Given the description of an element on the screen output the (x, y) to click on. 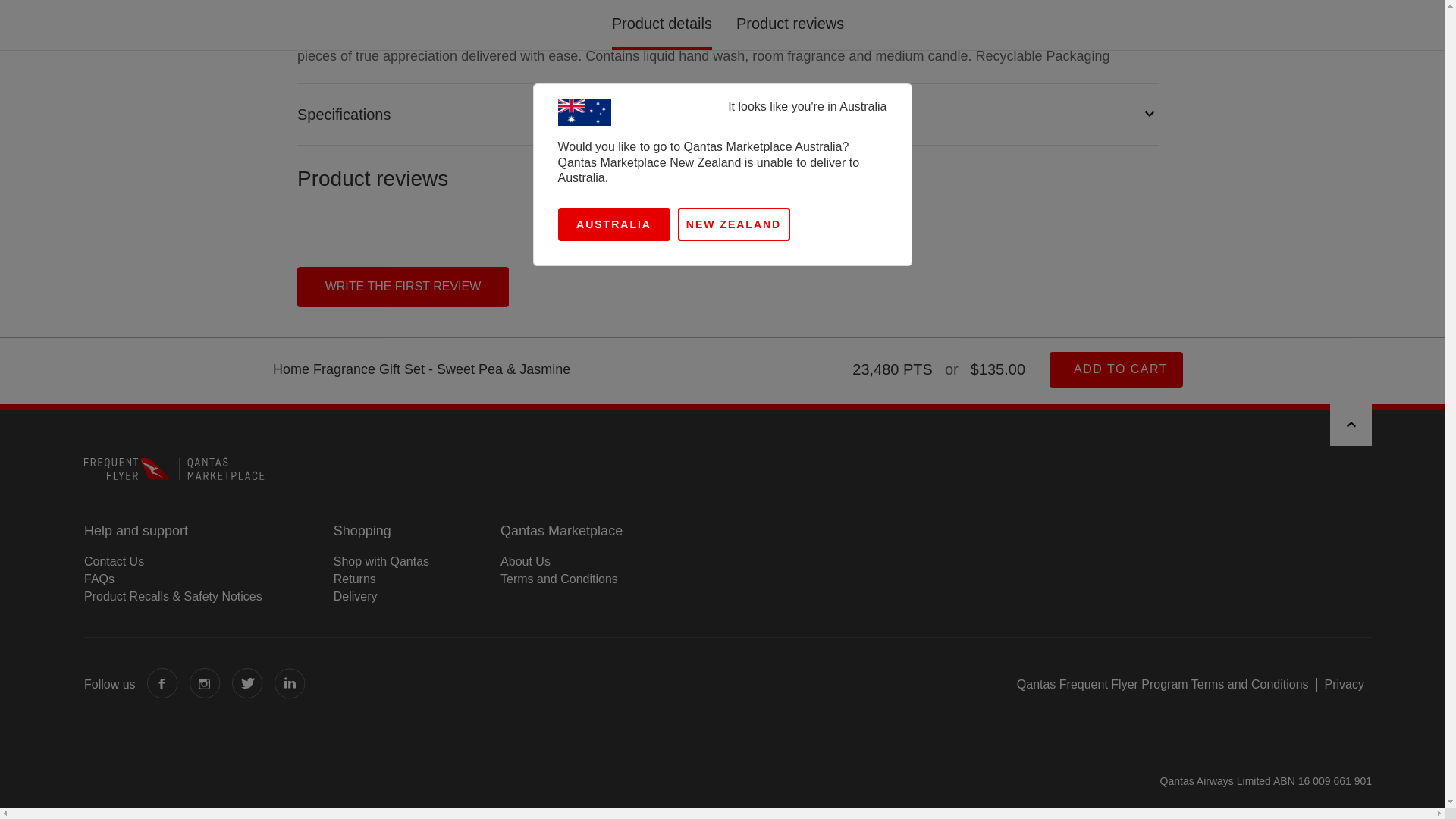
Product details (727, 72)
